Given the description of an element on the screen output the (x, y) to click on. 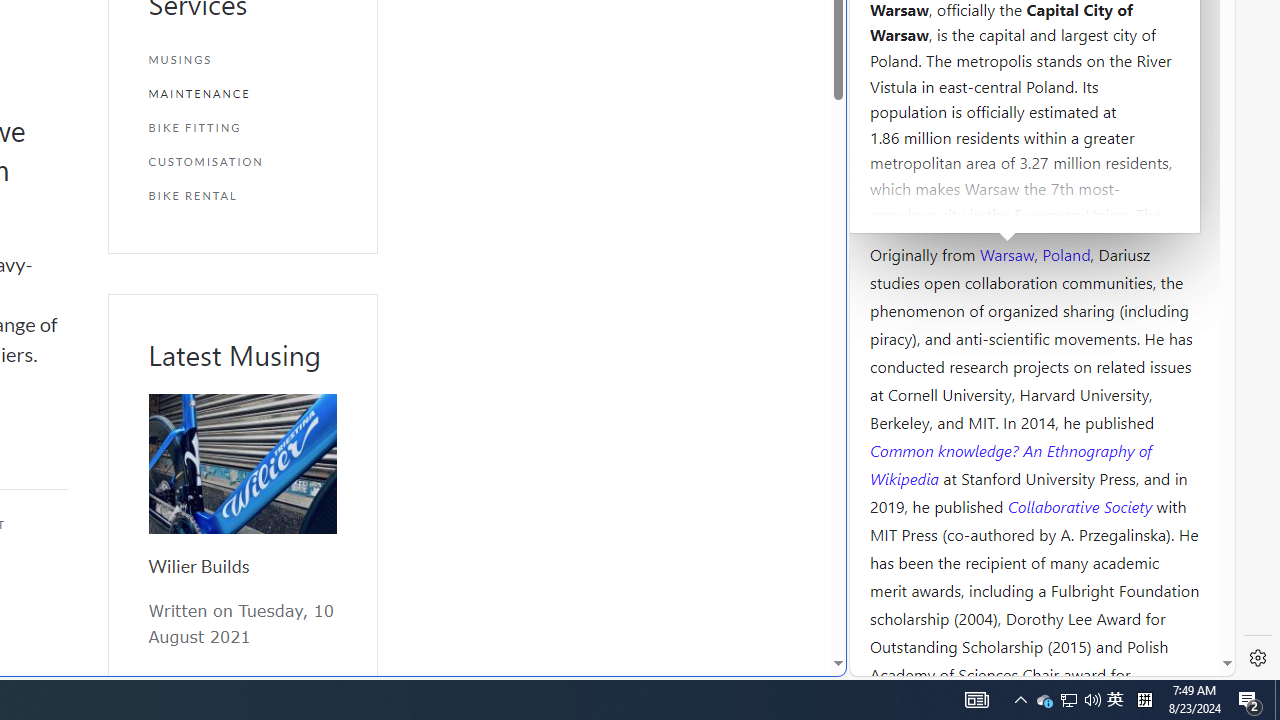
CUSTOMISATION (242, 161)
Class: wk-position-cover (242, 463)
MAINTENANCE (242, 93)
MAINTENANCE (242, 93)
BIKE RENTAL (242, 195)
